Given the description of an element on the screen output the (x, y) to click on. 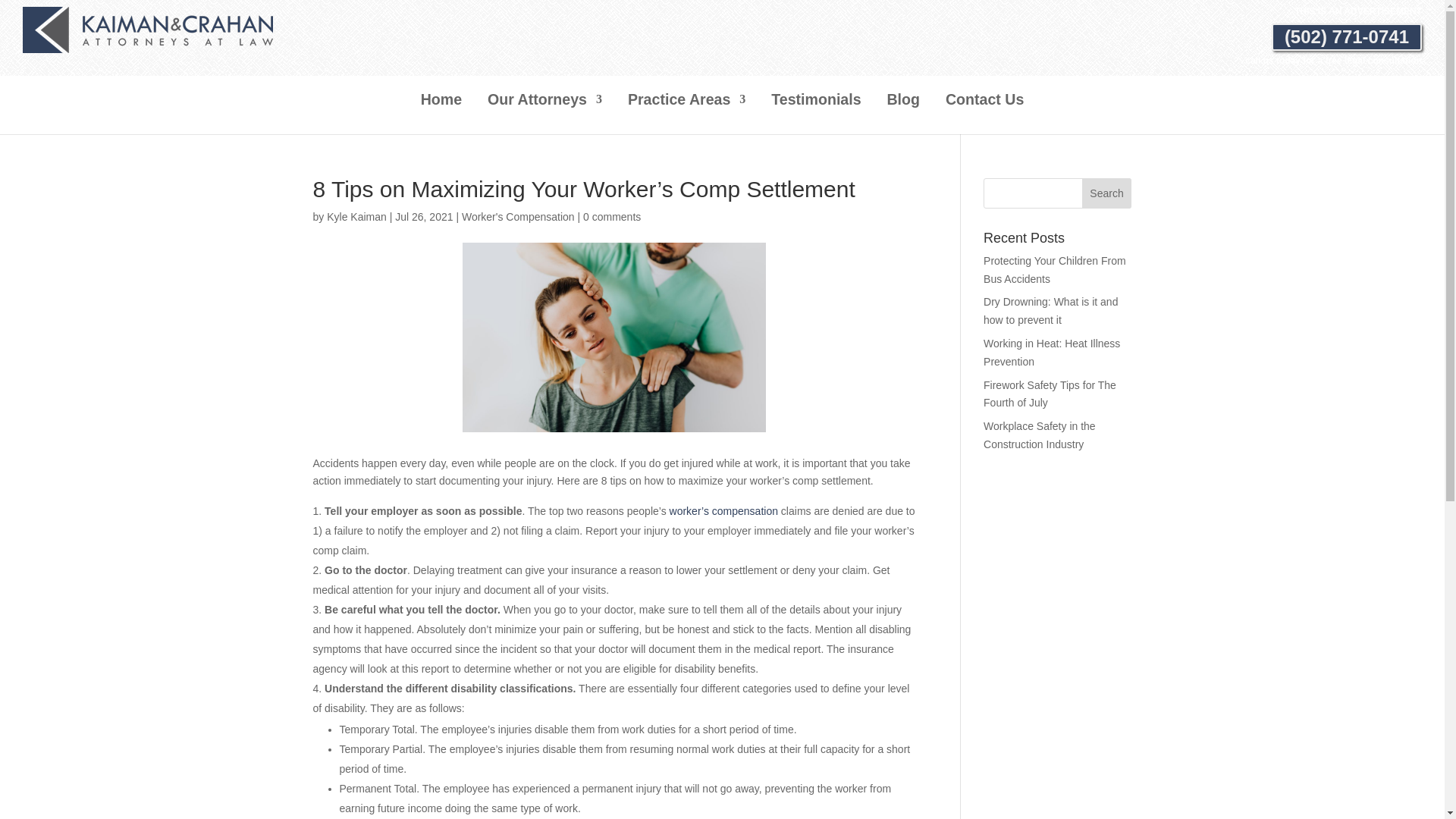
0 comments (611, 216)
Testimonials (815, 114)
Posts by Kyle Kaiman (356, 216)
Contact Us (983, 114)
Search (1106, 193)
Kyle Kaiman (356, 216)
Worker's Compensation (518, 216)
Practice Areas (686, 114)
Home (440, 114)
Our Attorneys (544, 114)
